Given the description of an element on the screen output the (x, y) to click on. 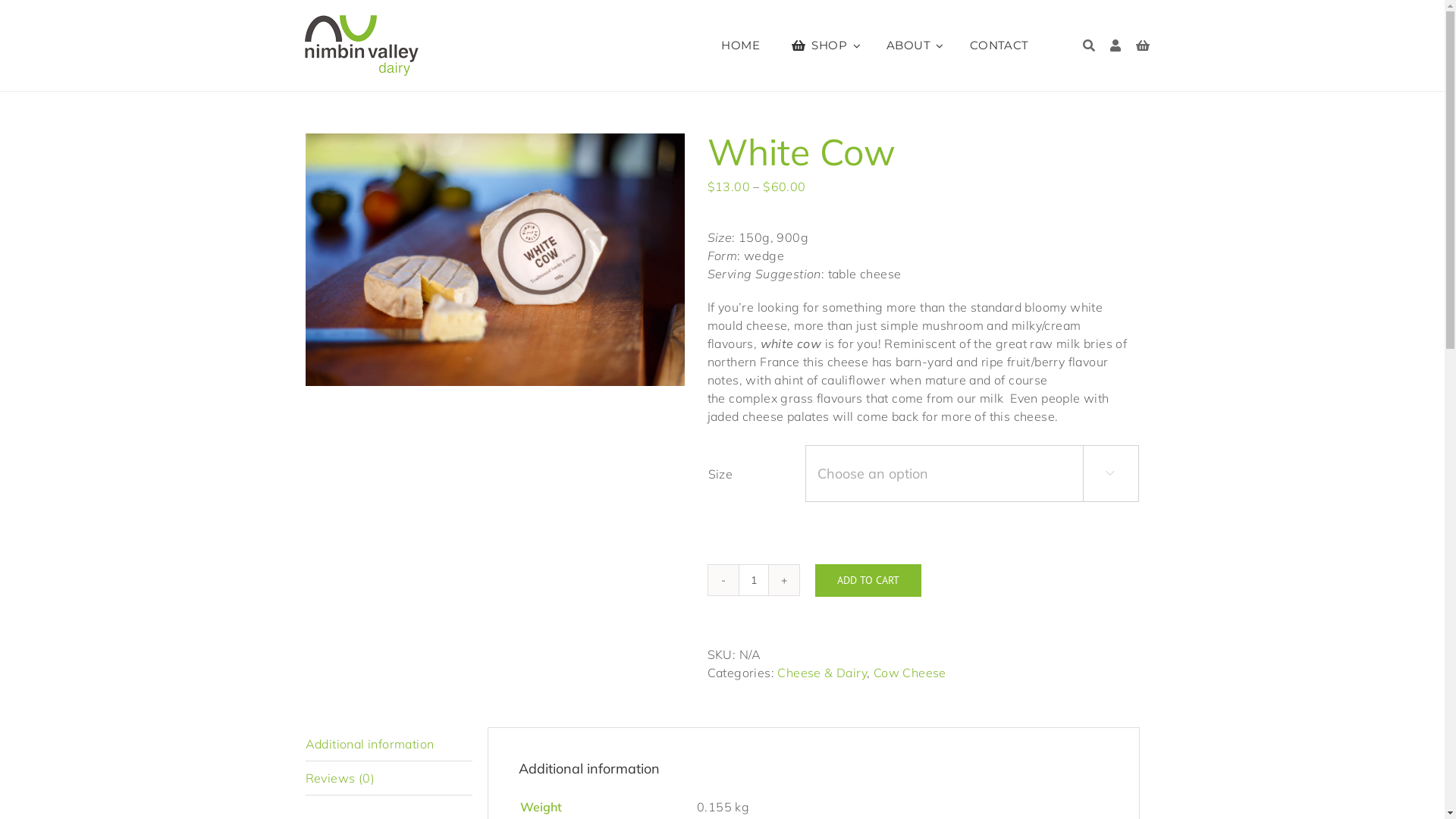
Search Element type: hover (1088, 44)
Cheese & Dairy Element type: text (821, 672)
ADD TO CART Element type: text (867, 580)
SHOP Element type: text (822, 45)
CONTACT Element type: text (999, 45)
HOME Element type: text (740, 45)
Additional information Element type: text (387, 744)
ABOUT Element type: text (915, 45)
White Cow Cheese | Nimbin Valley Dairy Element type: hover (494, 259)
Log In Element type: text (1073, 273)
Reviews (0) Element type: text (387, 778)
Cow Cheese Element type: text (909, 672)
